Given the description of an element on the screen output the (x, y) to click on. 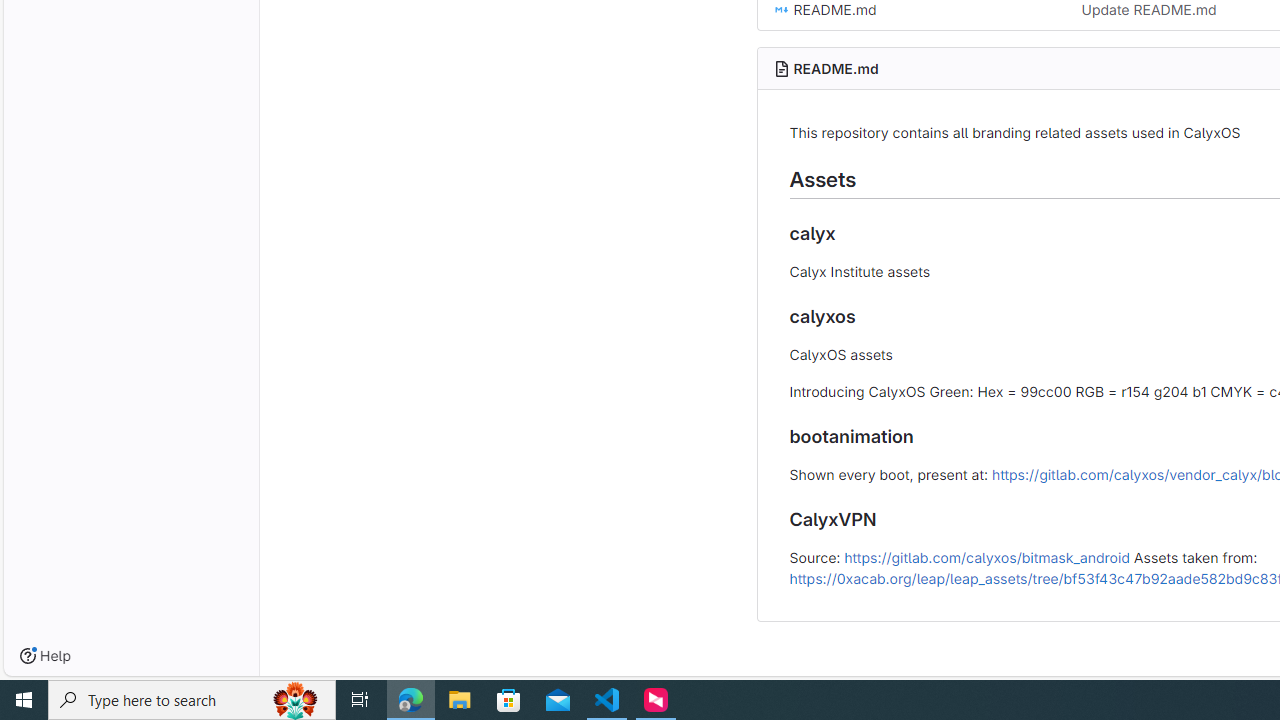
README.md (836, 68)
https://gitlab.com/calyxos/bitmask_android (986, 556)
Help (45, 655)
Class: s16 position-relative file-icon (781, 10)
